Given the description of an element on the screen output the (x, y) to click on. 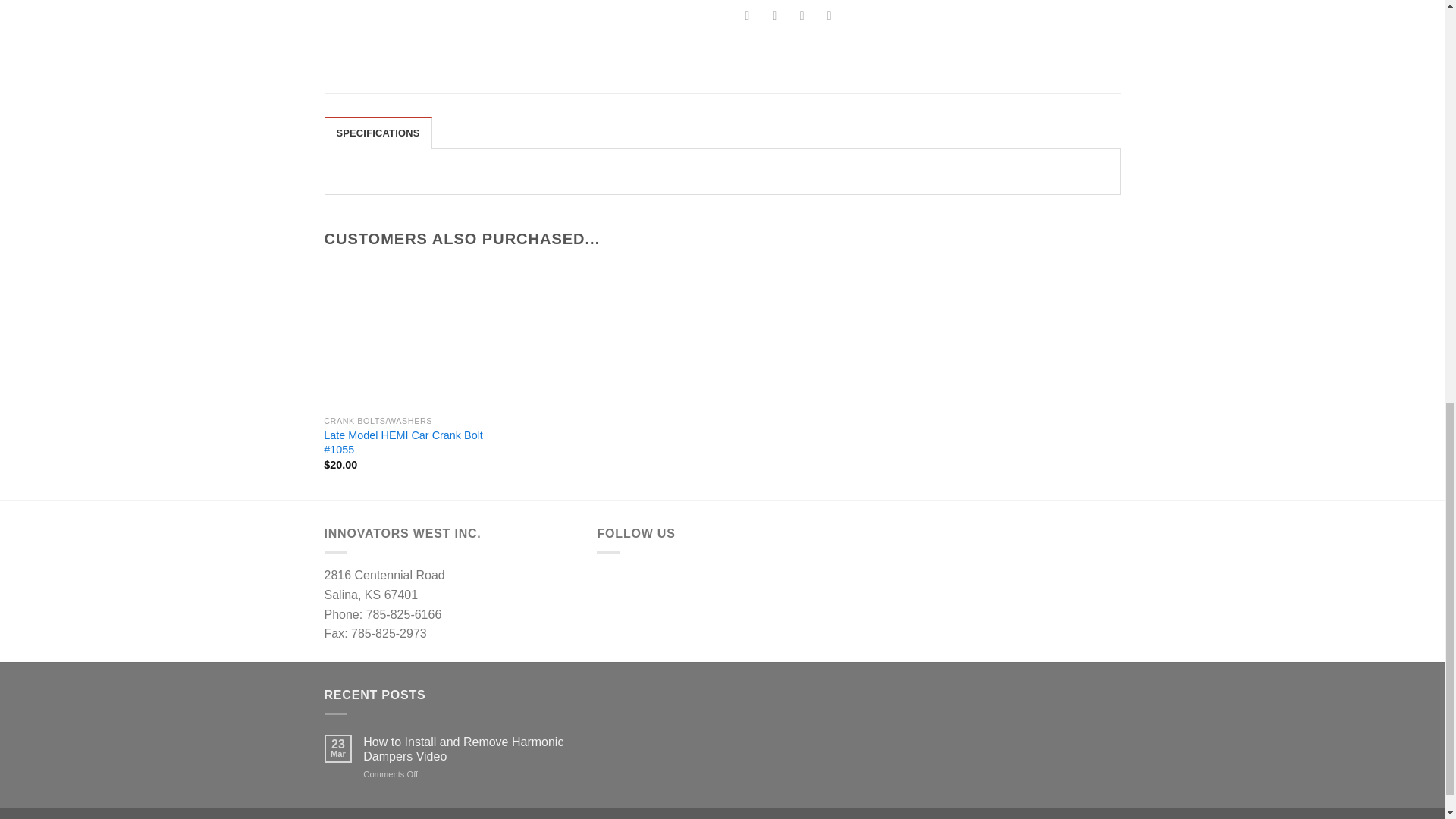
Innovators West Facebook Page (615, 584)
Innovators West Instagram (658, 584)
Share on Facebook (747, 17)
Email to a Friend (801, 17)
Share on Twitter (774, 17)
Pin on Pinterest (828, 17)
How to Install and Remove Harmonic Dampers Video (467, 748)
